Given the description of an element on the screen output the (x, y) to click on. 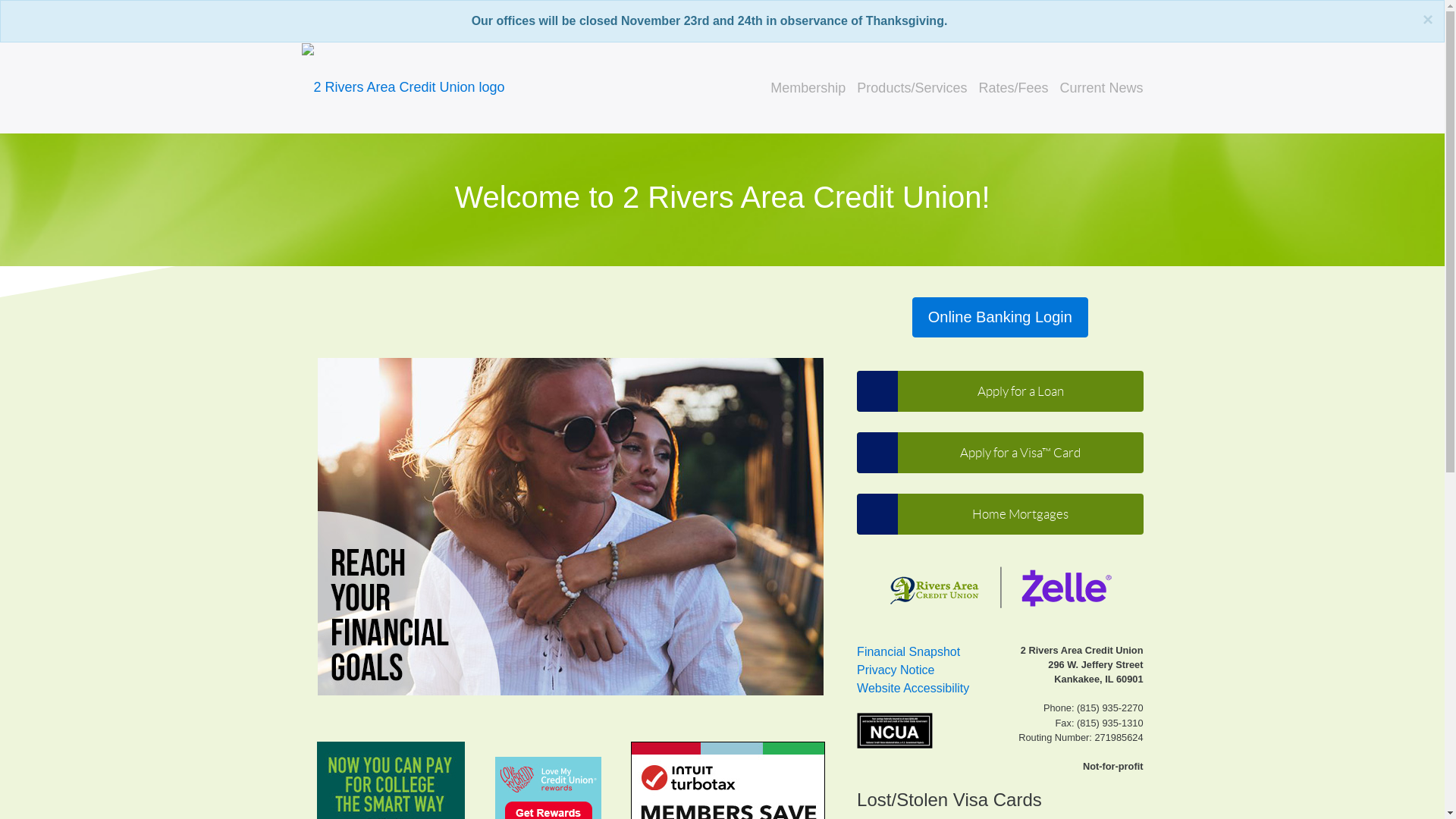
Home Mortgages Element type: text (999, 513)
Current News Element type: text (1100, 87)
Membership Element type: text (807, 87)
Website Accessibility Element type: text (912, 688)
Products/Services Element type: text (911, 87)
Rates/Fees Element type: text (1013, 87)
Zelle Element type: hover (999, 587)
Apply for a Loan Element type: text (999, 390)
Financial Snapshot Element type: text (908, 652)
Privacy Notice Element type: text (895, 670)
Online Banking Login Element type: text (1000, 317)
